Given the description of an element on the screen output the (x, y) to click on. 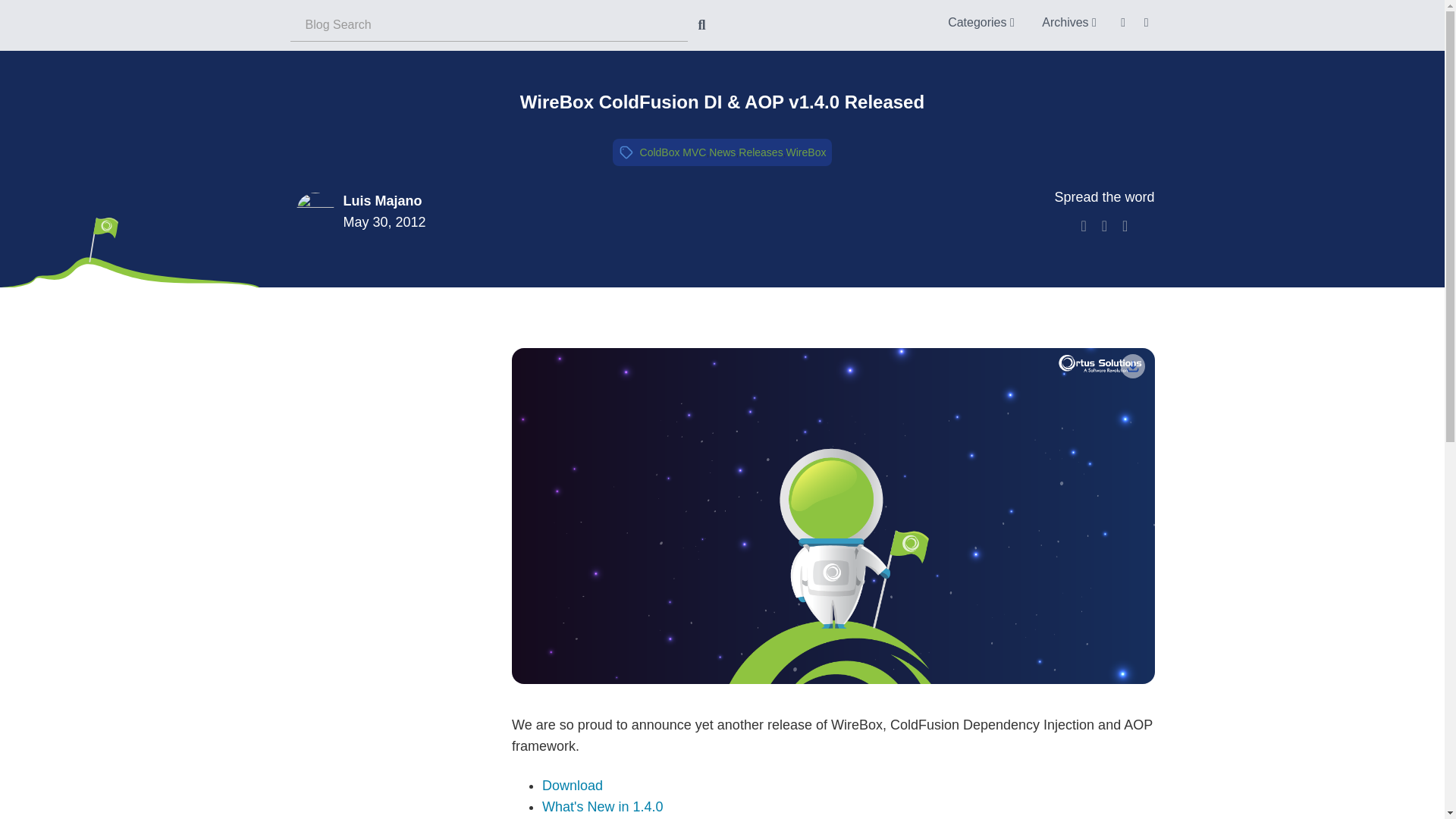
Download (1132, 365)
Archives (1068, 21)
What's New in 1.4.0 (602, 806)
Filter entries by 'News' (722, 151)
Filter entries by 'WireBox' (806, 151)
News (722, 151)
WireBox (806, 151)
RSS (1124, 21)
Categories (981, 21)
Download (571, 785)
